Given the description of an element on the screen output the (x, y) to click on. 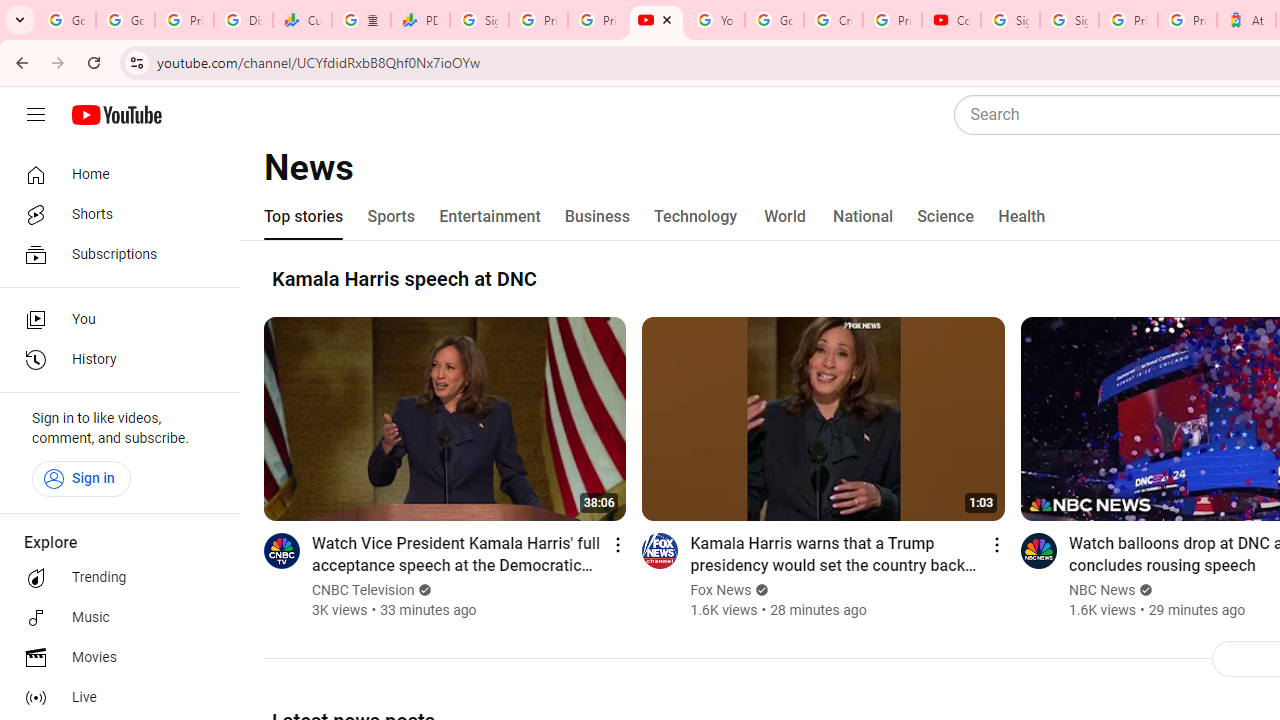
Entertainment (490, 216)
Home (113, 174)
YouTube (715, 20)
National (863, 216)
CNBC Television (364, 590)
Google Account Help (774, 20)
YouTube (656, 20)
World (785, 216)
Shorts (113, 214)
